Given the description of an element on the screen output the (x, y) to click on. 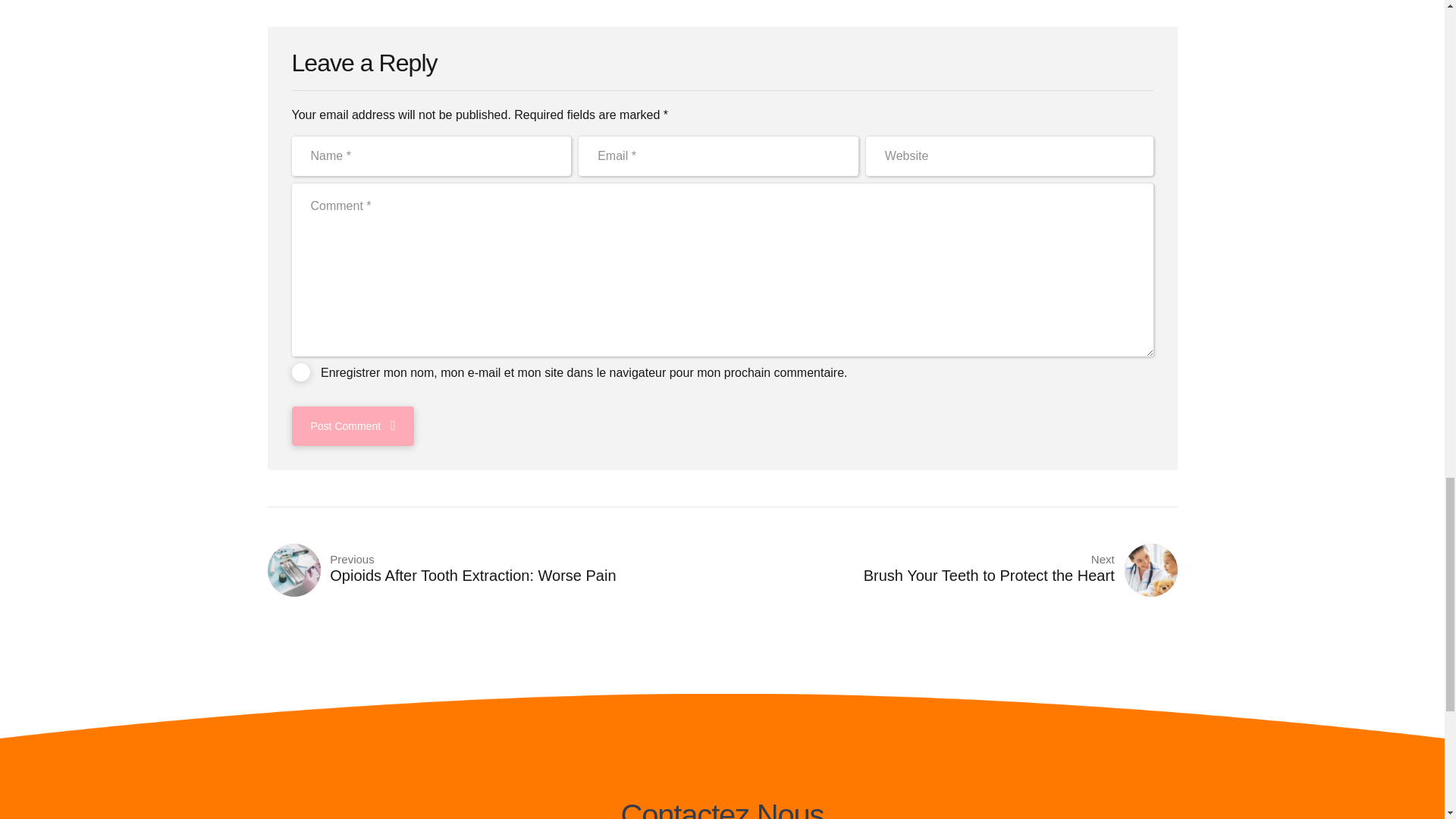
Post Comment (352, 425)
yes (494, 570)
